Given the description of an element on the screen output the (x, y) to click on. 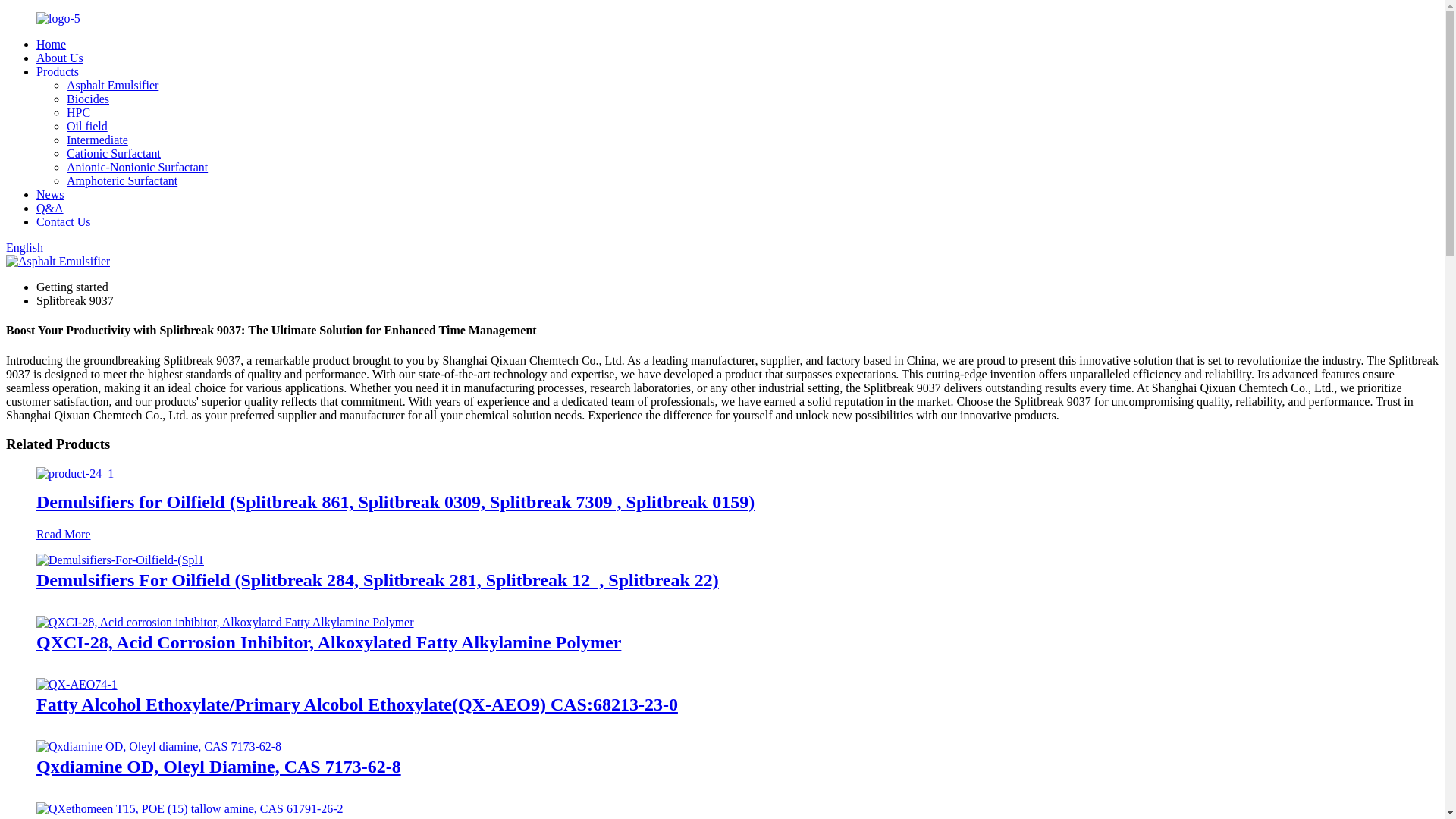
HPC (78, 112)
Amphoteric Surfactant (121, 180)
Anionic-Nonionic Surfactant (137, 166)
Home (50, 43)
Qxdiamine OD, Oleyl Diamine, CAS 7173-62-8 (158, 746)
Getting started (71, 286)
Read More (63, 533)
Splitbreak 9037 (74, 300)
